Given the description of an element on the screen output the (x, y) to click on. 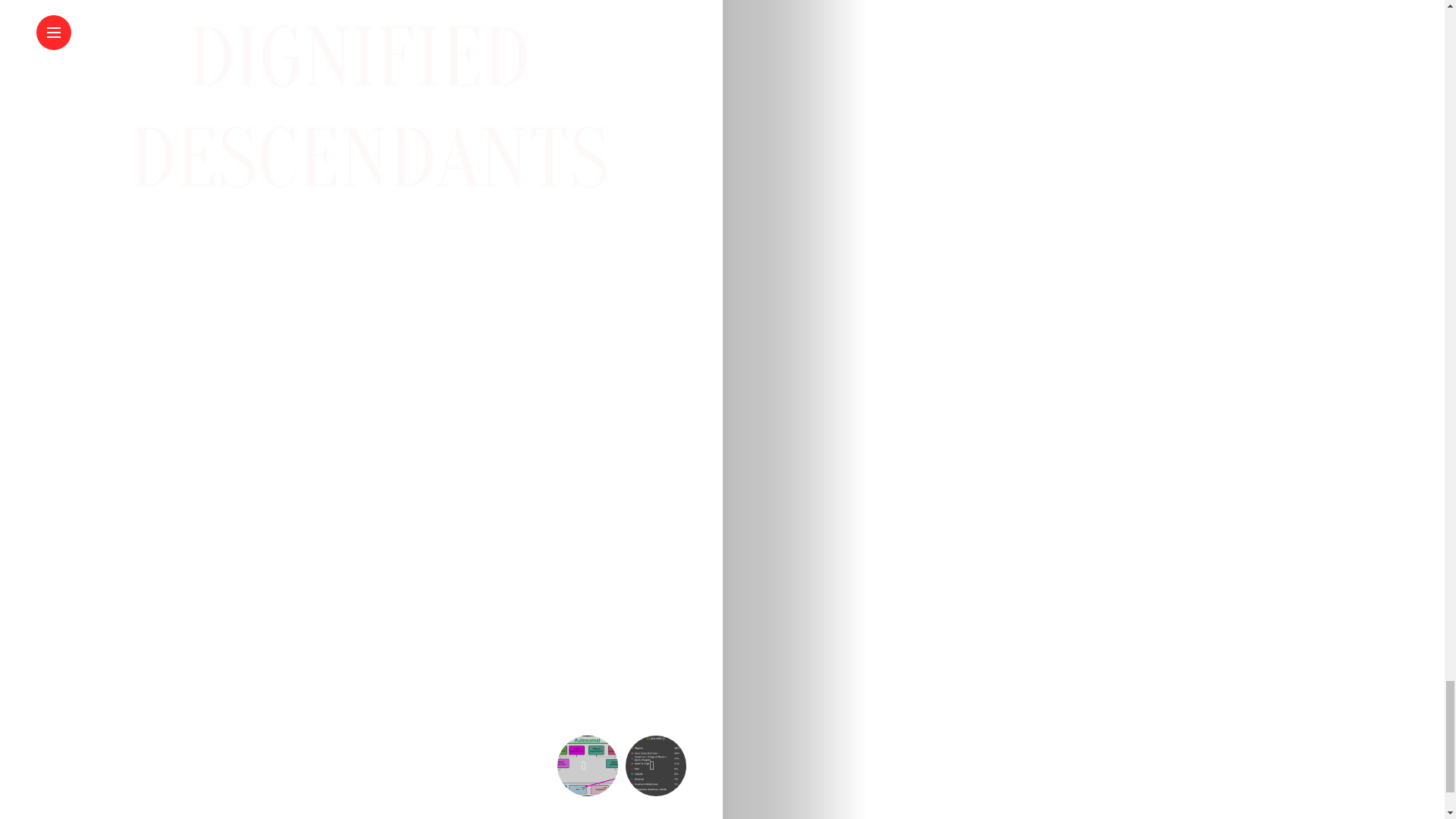
subscribe (41, 722)
facebook (55, 86)
yes (360, 615)
subscribe (41, 681)
Post Comment (93, 780)
